Given the description of an element on the screen output the (x, y) to click on. 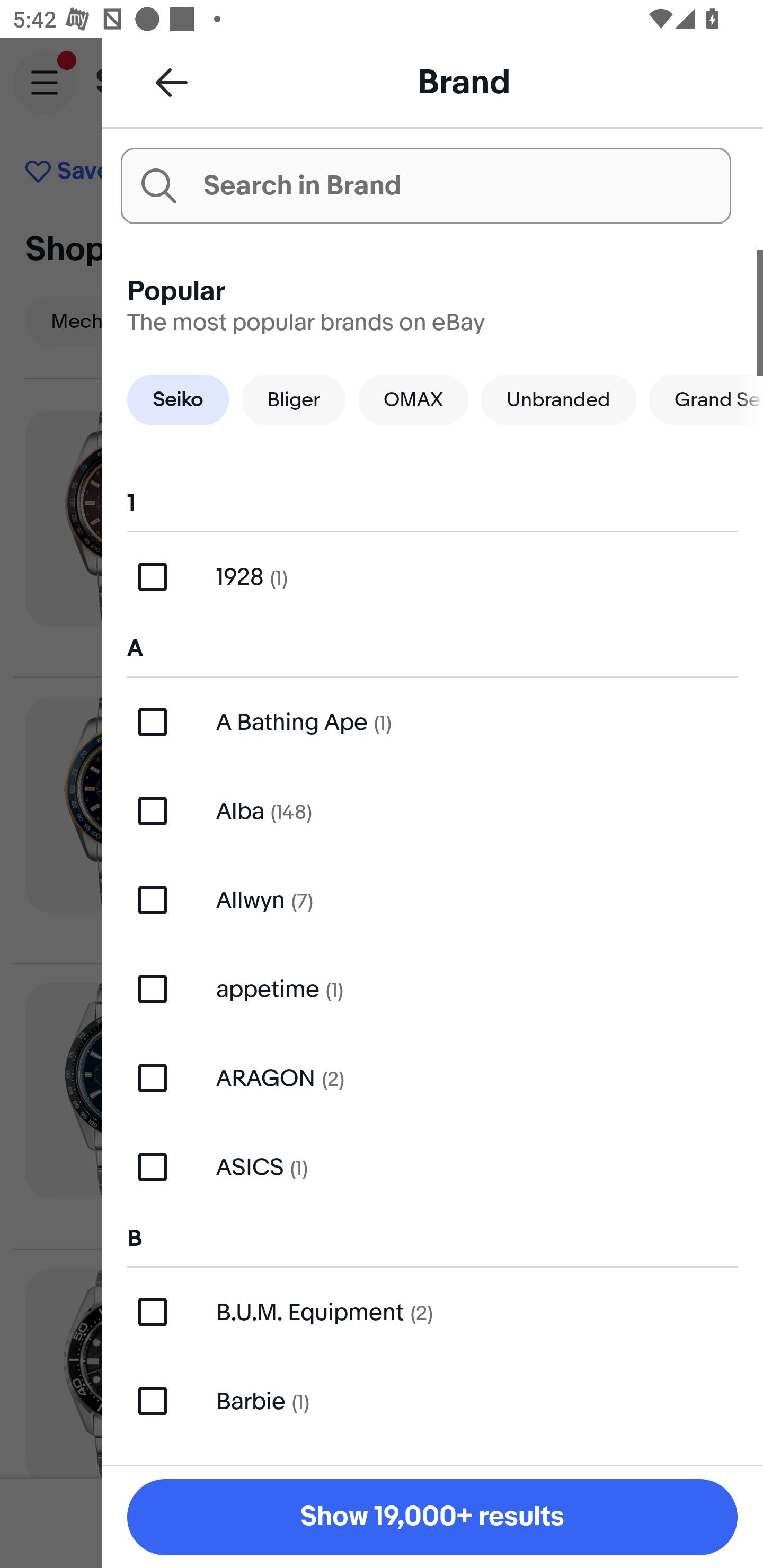
Back to all refinements (171, 81)
Search in Brand (425, 185)
Seiko (177, 399)
Bliger (293, 399)
OMAX (412, 399)
Unbranded (558, 399)
Grand Seiko (706, 399)
1928 (1) (432, 576)
A Bathing Ape (1) (432, 721)
Alba (148) (432, 811)
Allwyn (7) (432, 899)
appetime (1) (432, 988)
ARAGON (2) (432, 1077)
ASICS (1) (432, 1167)
B.U.M. Equipment (2) (432, 1311)
Barbie (1) (432, 1400)
Show 19,000+ results (432, 1516)
